Given the description of an element on the screen output the (x, y) to click on. 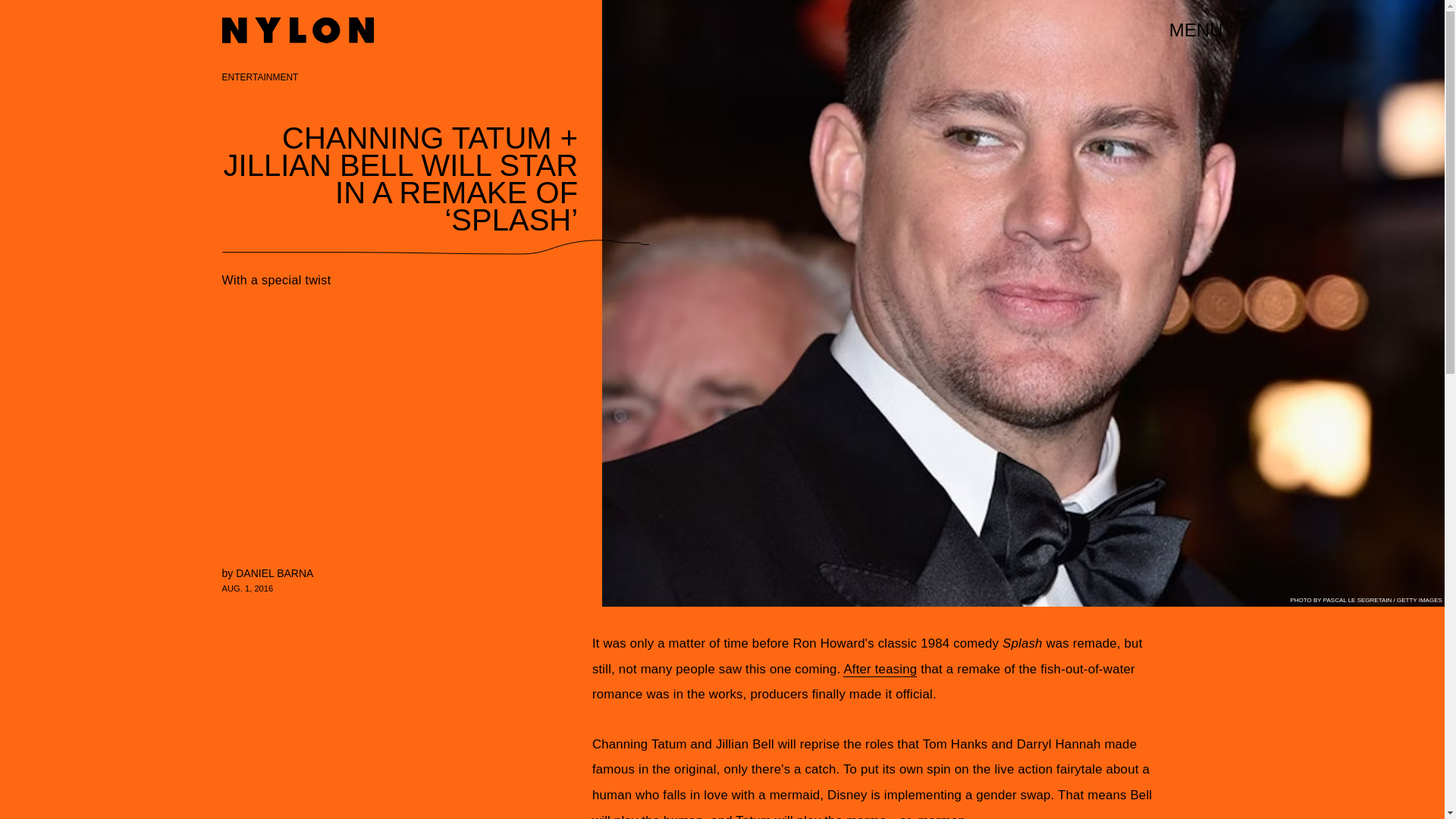
After teasing (880, 669)
Nylon (296, 30)
